Given the description of an element on the screen output the (x, y) to click on. 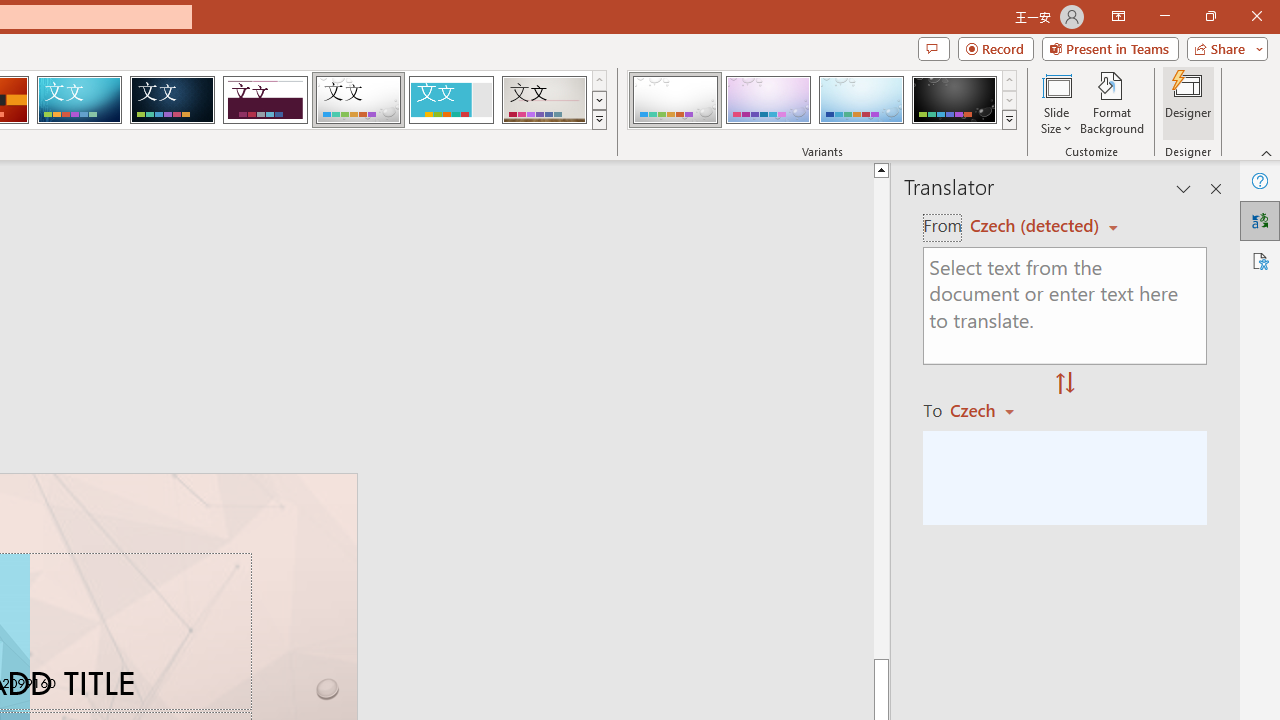
Slide Size (1056, 102)
Droplet Variant 1 (674, 100)
Droplet Variant 4 (953, 100)
Droplet (358, 100)
